Given the description of an element on the screen output the (x, y) to click on. 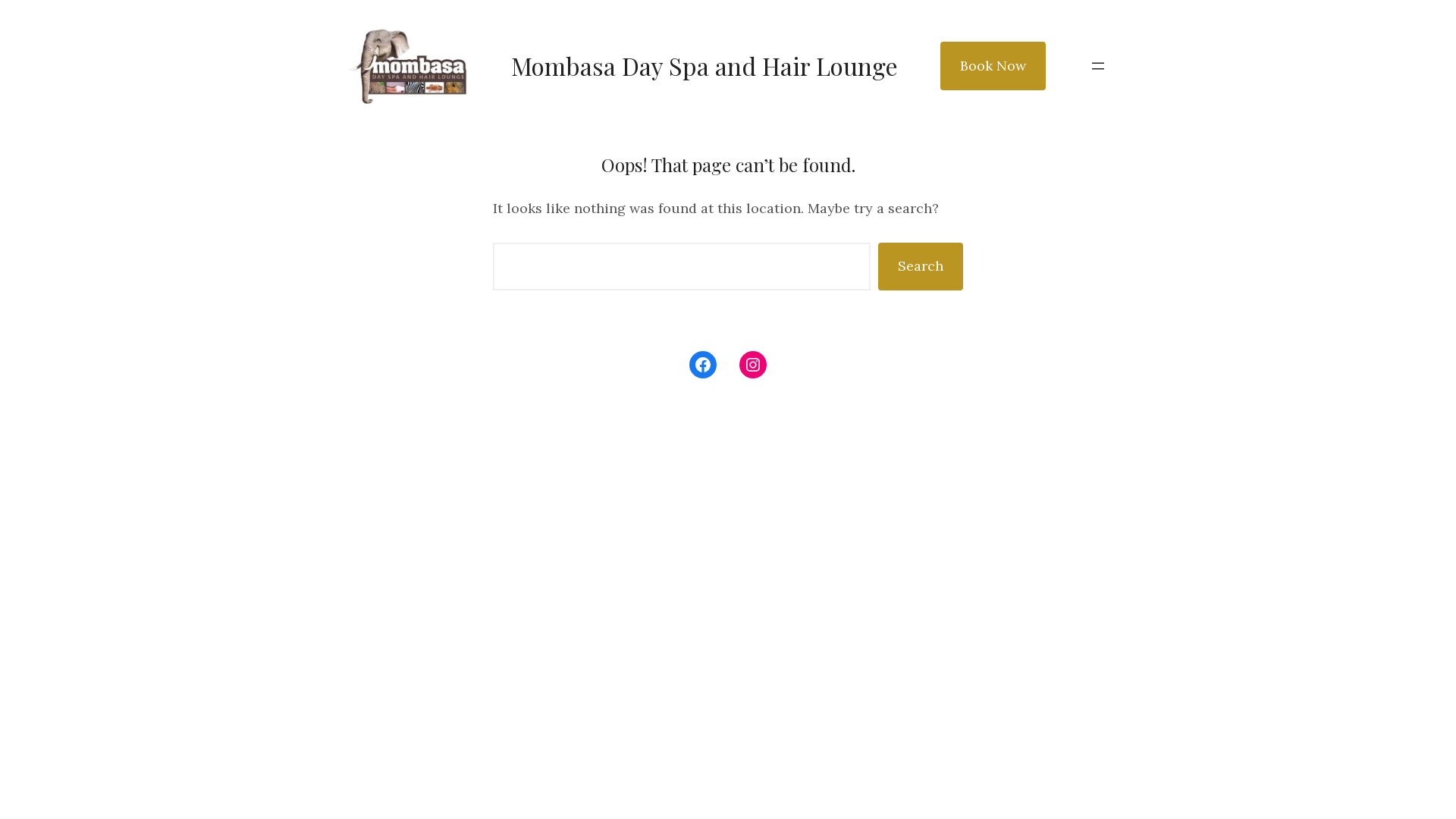
Instagram Element type: text (752, 364)
Book Now Element type: text (992, 65)
Search Element type: text (920, 266)
Facebook Element type: text (702, 364)
